Given the description of an element on the screen output the (x, y) to click on. 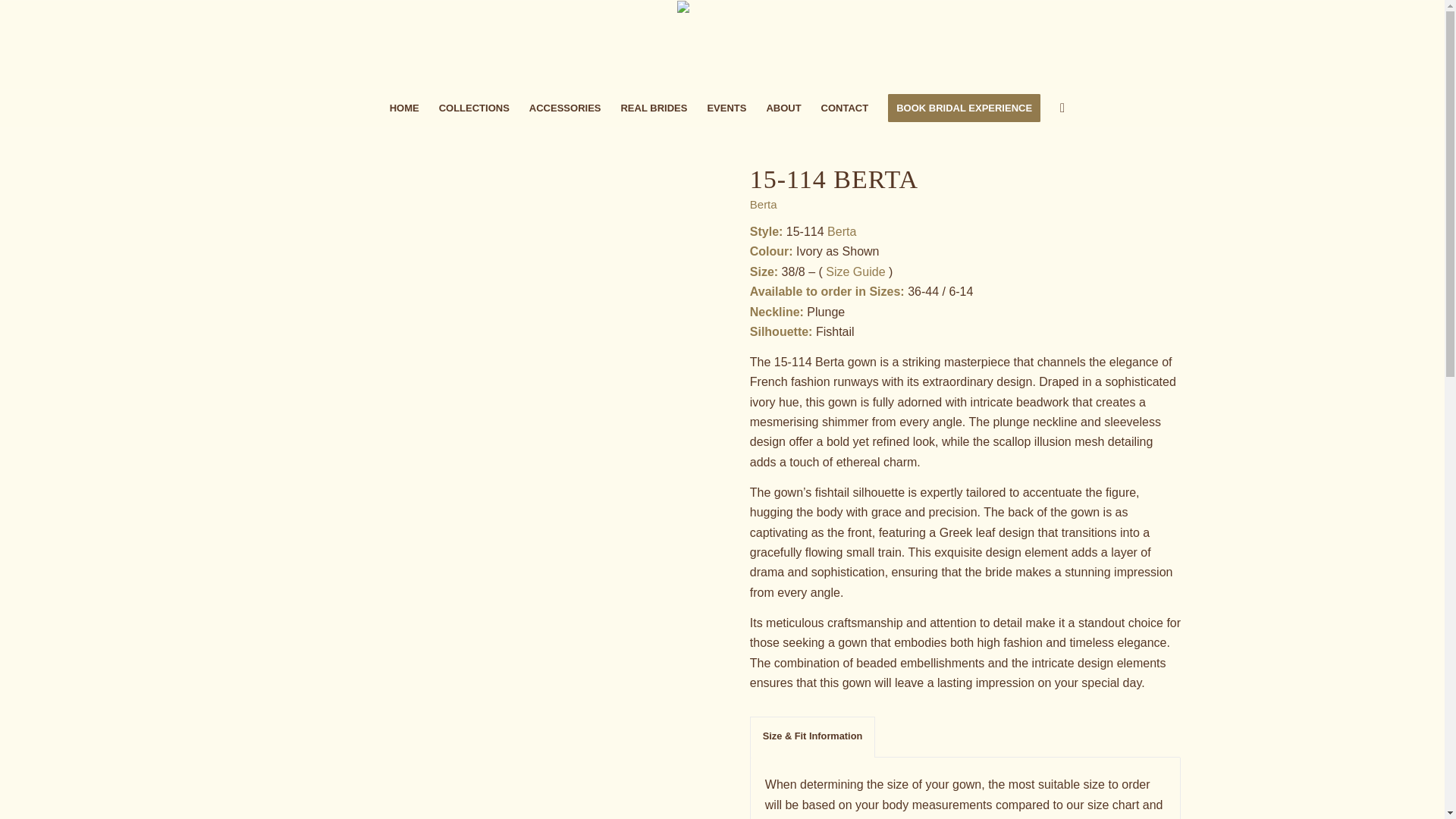
Berta (763, 204)
REAL BRIDES (653, 108)
CONTACT (844, 108)
ABOUT (782, 108)
Size Guide (855, 271)
COLLECTIONS (474, 108)
ACCESSORIES (565, 108)
EVENTS (726, 108)
Berta (841, 231)
HOME (404, 108)
